Given the description of an element on the screen output the (x, y) to click on. 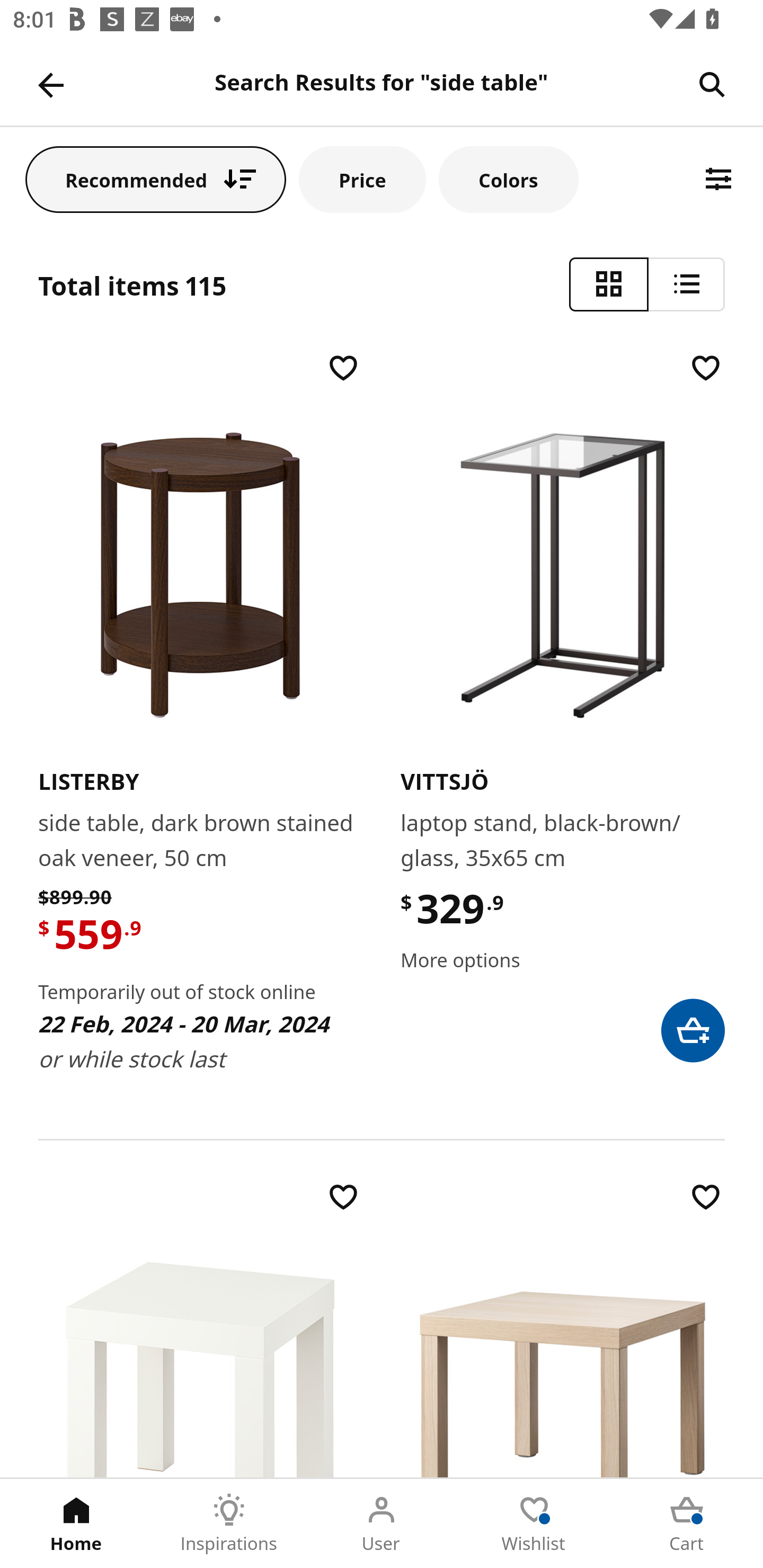
Recommended (155, 179)
Price (362, 179)
Colors (508, 179)
​L​A​C​K​
side table, white, 35x35 cm
$
79
.9 (200, 1328)
Home
Tab 1 of 5 (76, 1522)
Inspirations
Tab 2 of 5 (228, 1522)
User
Tab 3 of 5 (381, 1522)
Wishlist
Tab 4 of 5 (533, 1522)
Cart
Tab 5 of 5 (686, 1522)
